Given the description of an element on the screen output the (x, y) to click on. 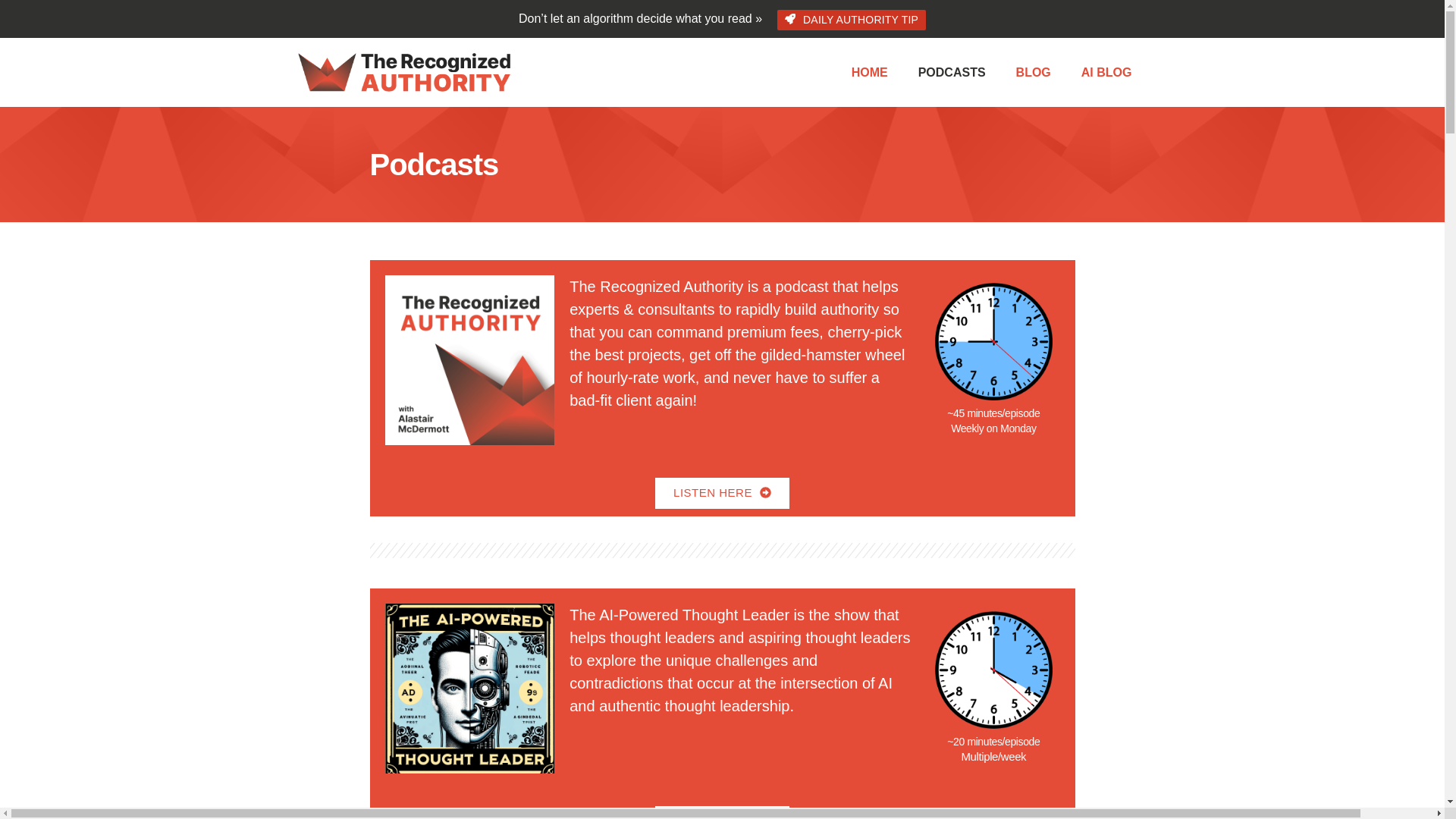
AI BLOG (1106, 72)
BLOG (1033, 72)
HOME (868, 72)
PODCASTS (951, 72)
DAILY AUTHORITY TIP (851, 19)
LISTEN HERE (722, 492)
LISTEN HERE (722, 812)
